Given the description of an element on the screen output the (x, y) to click on. 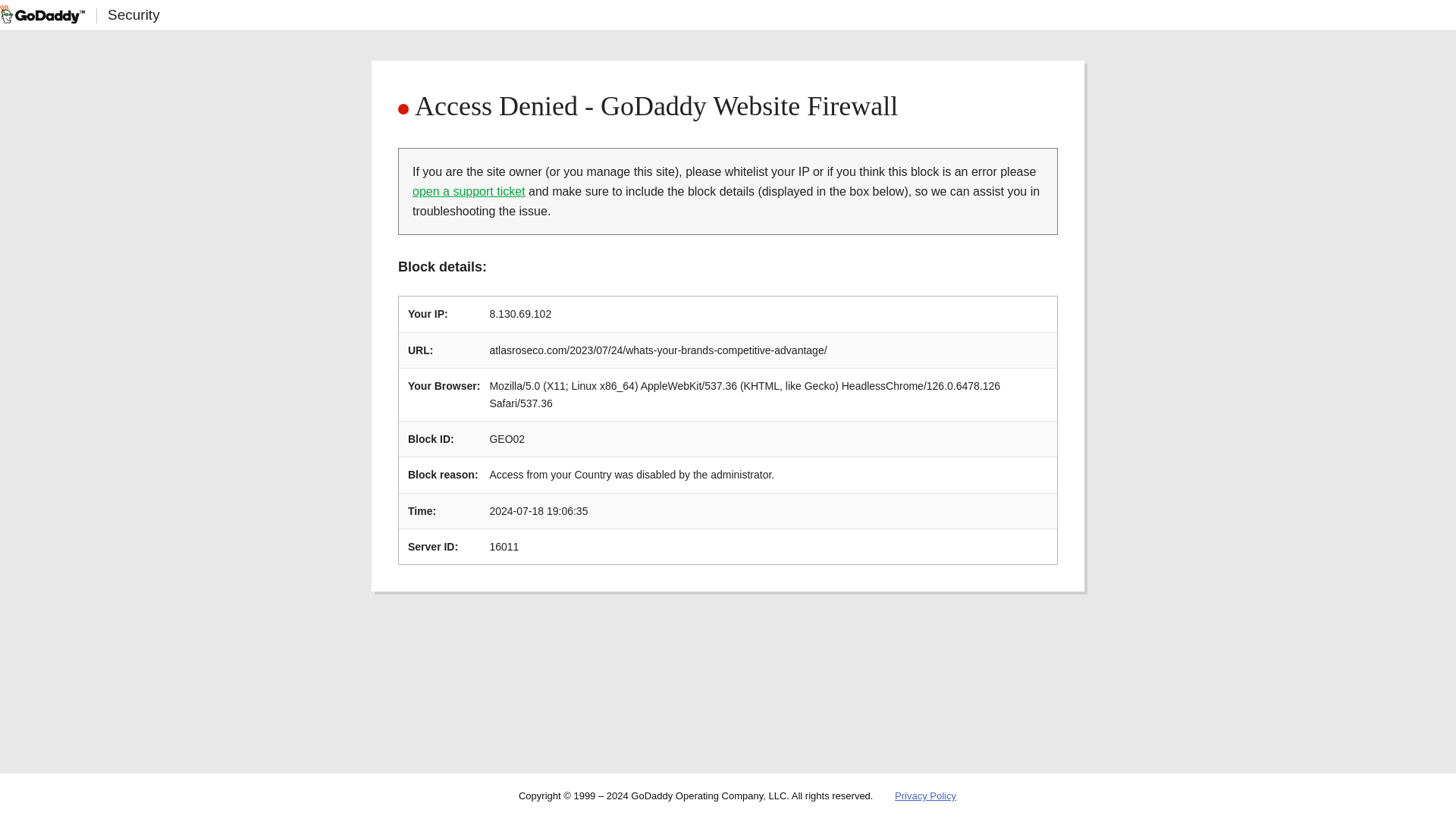
Privacy Policy (925, 795)
open a support ticket (468, 191)
